Given the description of an element on the screen output the (x, y) to click on. 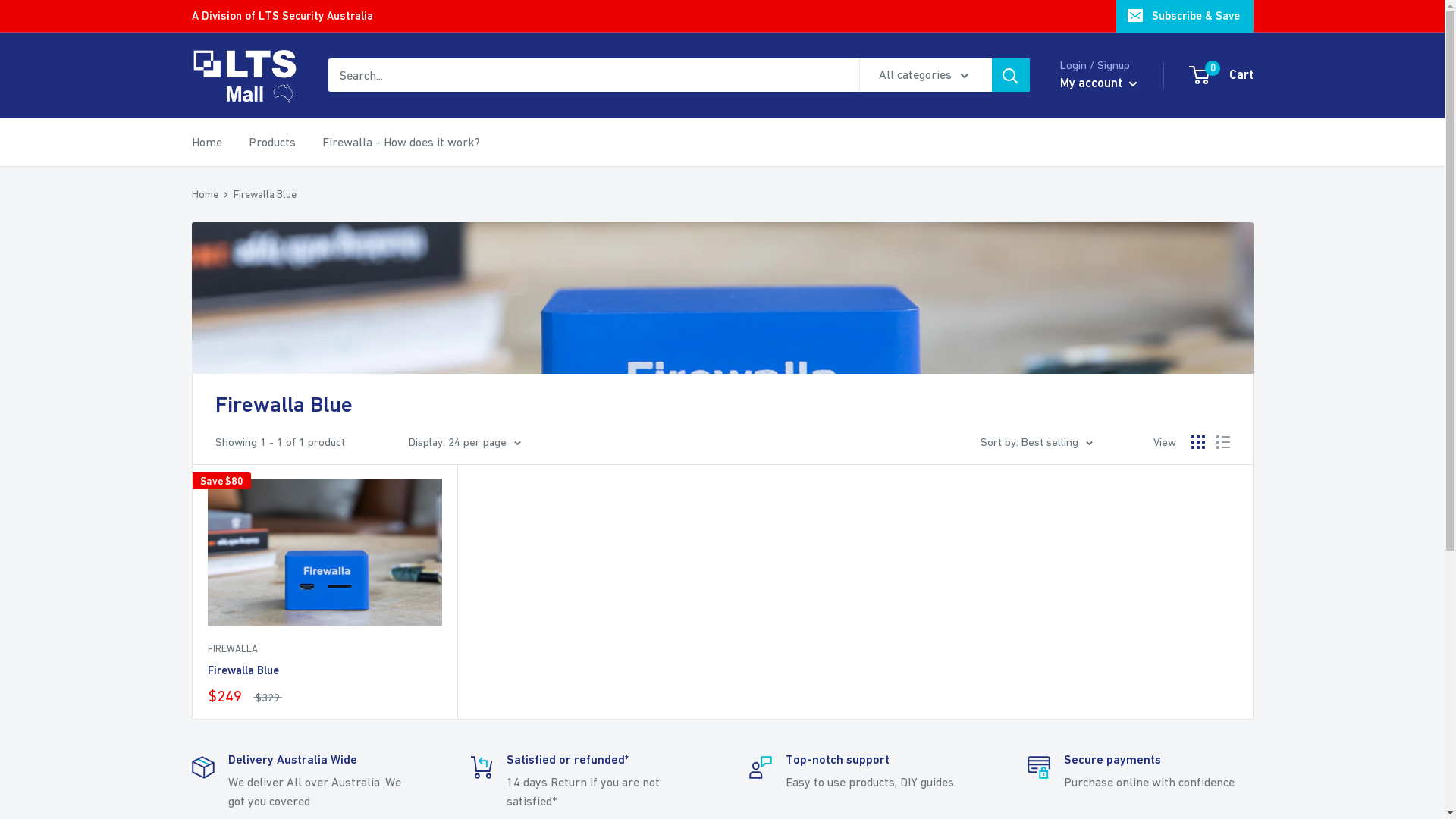
Subscribe & Save Element type: text (1184, 15)
My account Element type: text (1098, 83)
Sort by: Best selling Element type: text (1035, 441)
Home Element type: text (206, 142)
Products Element type: text (271, 142)
Firewalla Blue Element type: text (324, 669)
FIREWALLA Element type: text (324, 648)
Home Element type: text (204, 194)
Display: 24 per page Element type: text (463, 441)
0
Cart Element type: text (1221, 74)
Firewalla - How does it work? Element type: text (400, 142)
